Given the description of an element on the screen output the (x, y) to click on. 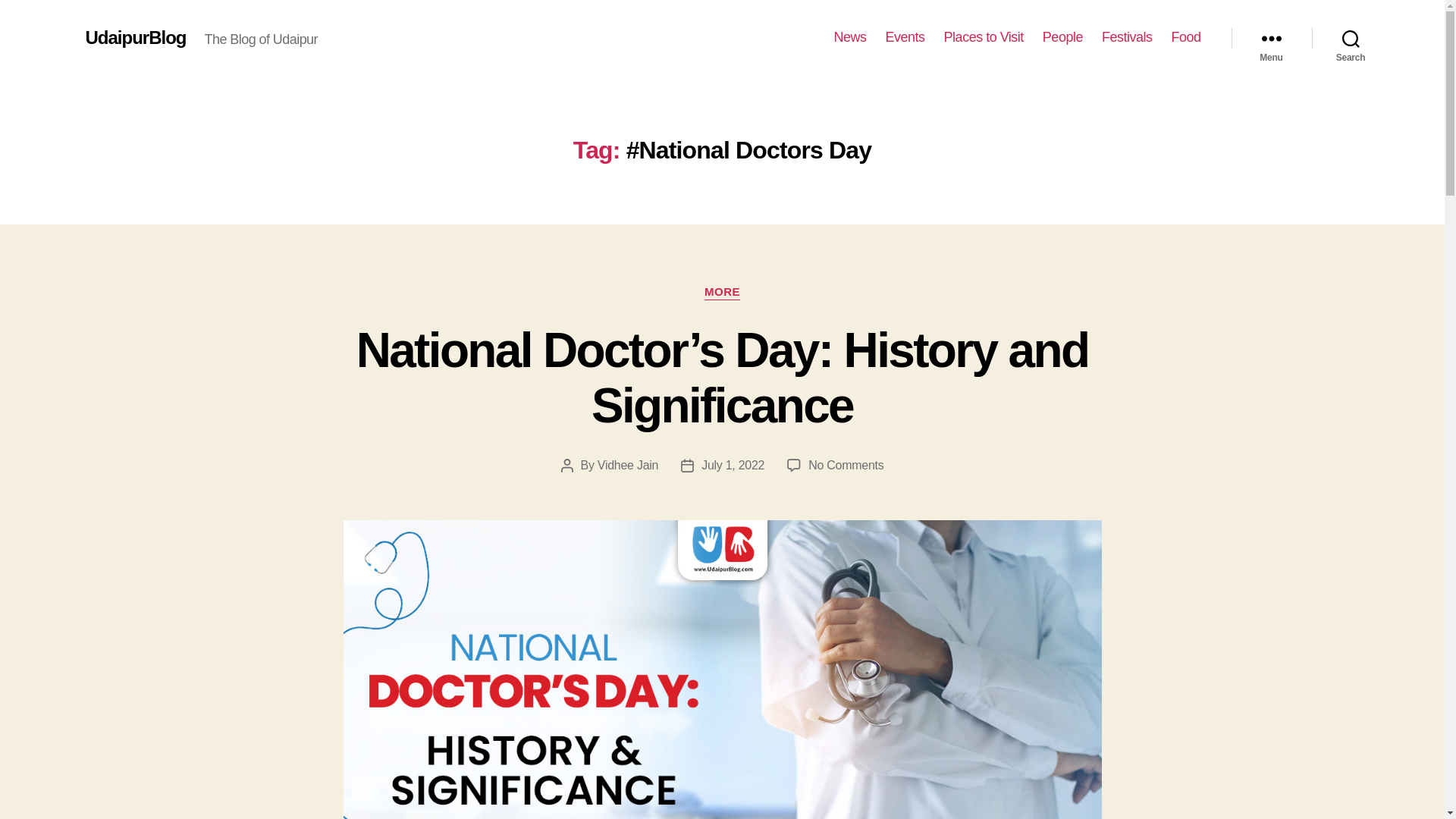
Vidhee Jain (627, 464)
Menu (1271, 37)
Events (904, 37)
Food (1184, 37)
News (850, 37)
MORE (721, 292)
UdaipurBlog (135, 37)
Search (1350, 37)
July 1, 2022 (732, 464)
Festivals (1127, 37)
